Given the description of an element on the screen output the (x, y) to click on. 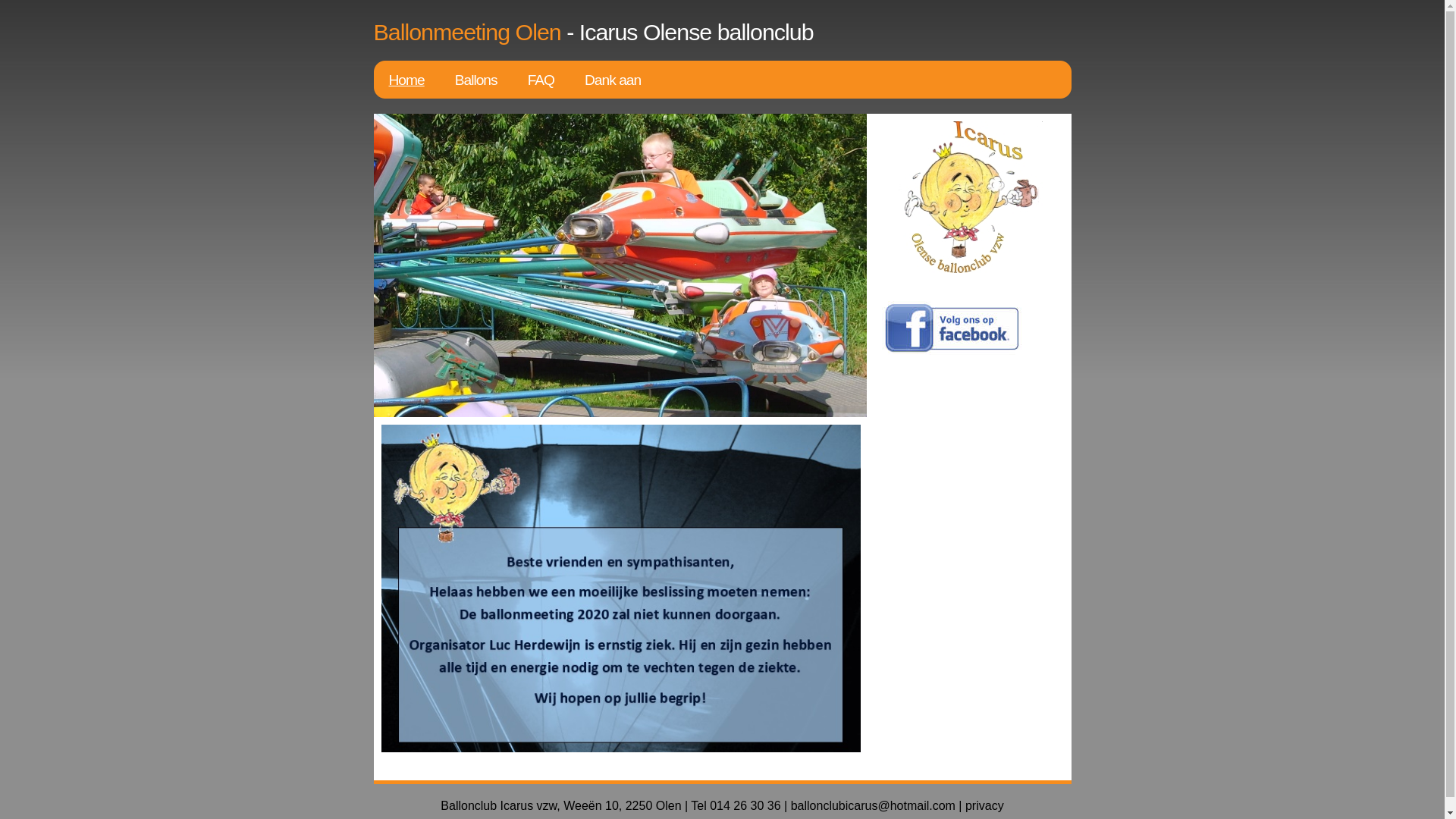
FAQ Element type: text (540, 79)
Home Element type: text (406, 79)
Dank aan Element type: text (612, 79)
Ballons Element type: text (475, 79)
